Given the description of an element on the screen output the (x, y) to click on. 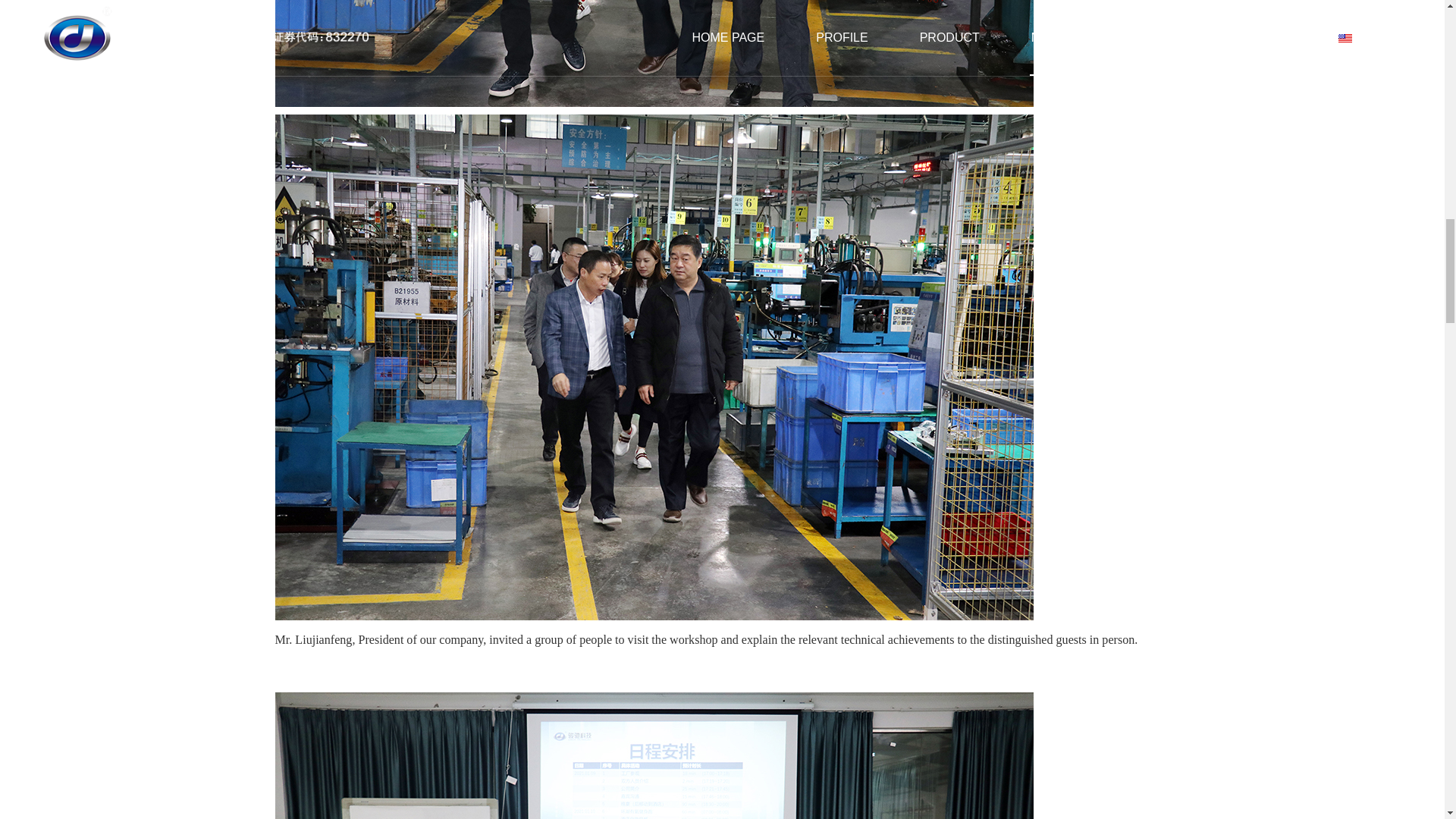
5ffe6029afcd8.jpg (653, 53)
